Given the description of an element on the screen output the (x, y) to click on. 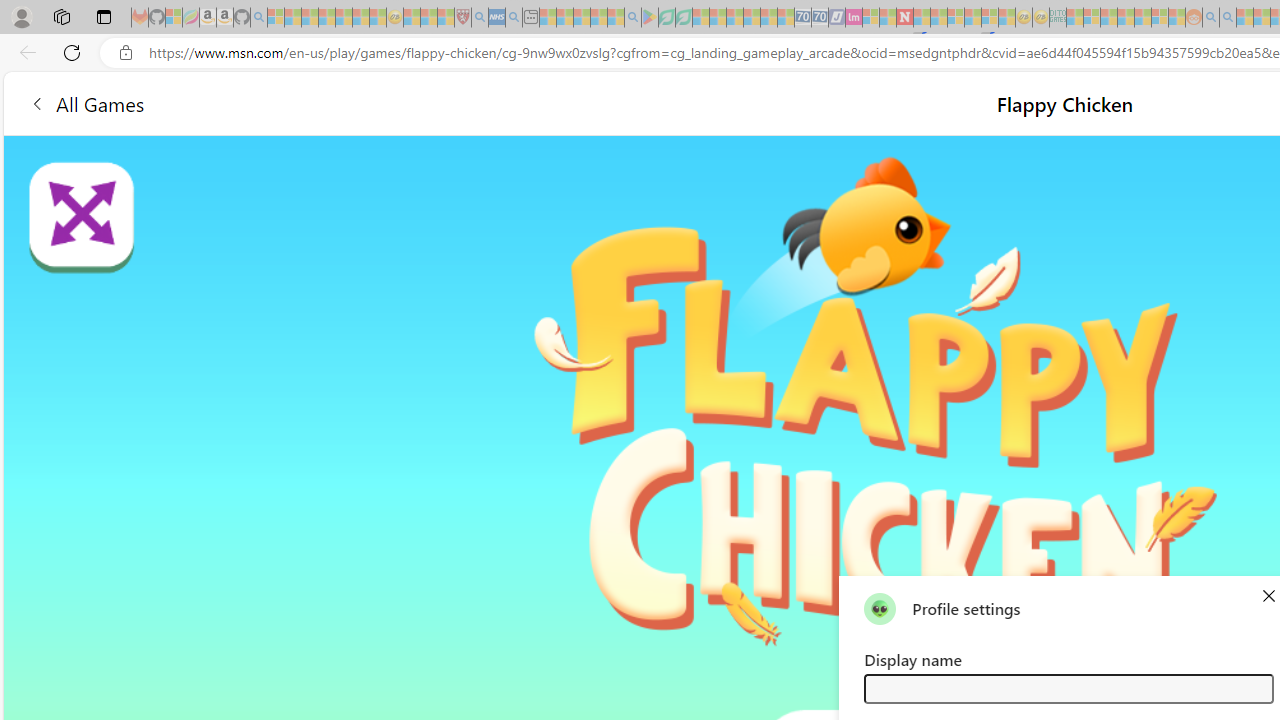
utah sues federal government - Search - Sleeping (513, 17)
All Games (373, 102)
